Given the description of an element on the screen output the (x, y) to click on. 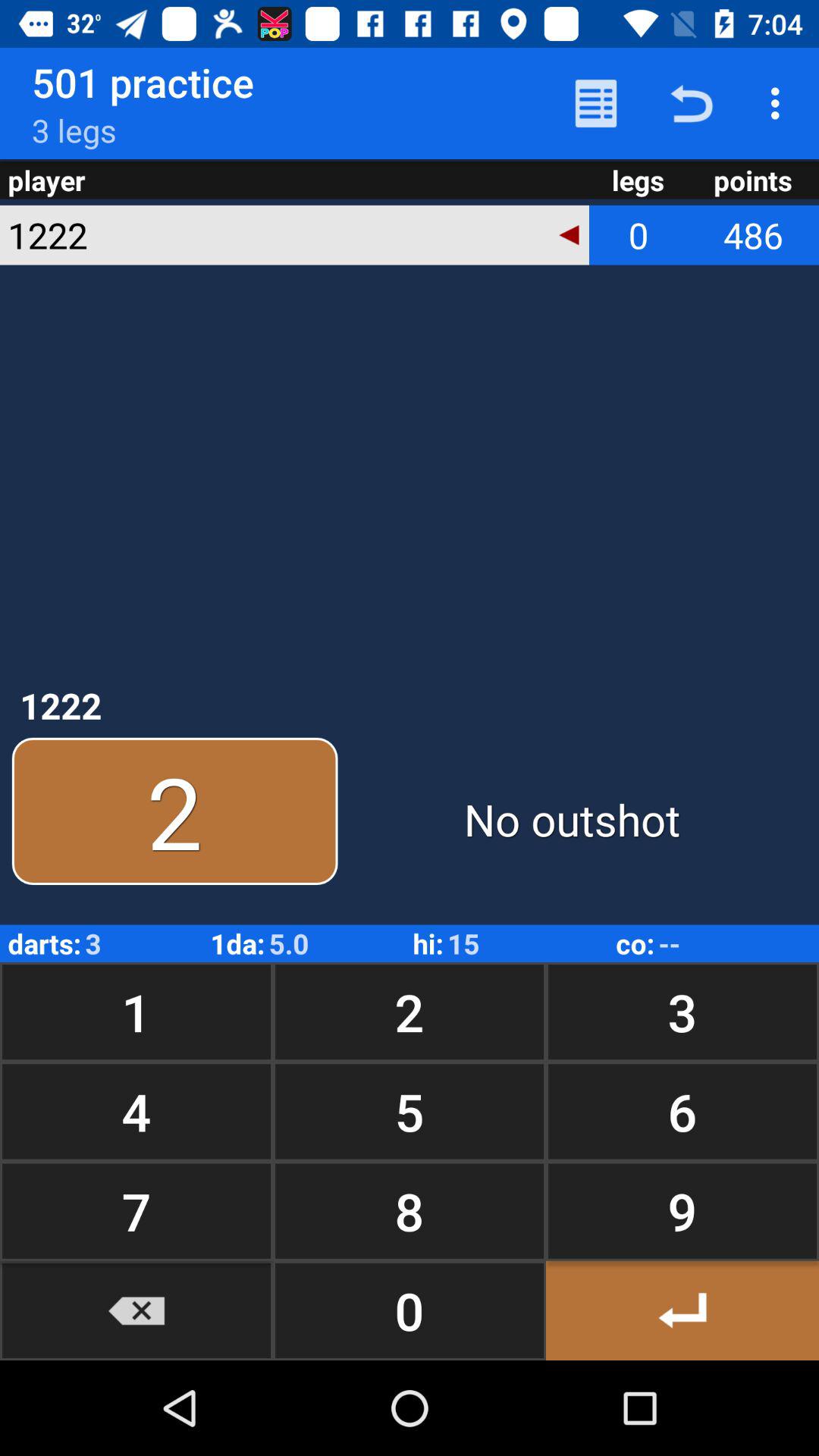
turn off icon next to the legs icon (568, 235)
